Given the description of an element on the screen output the (x, y) to click on. 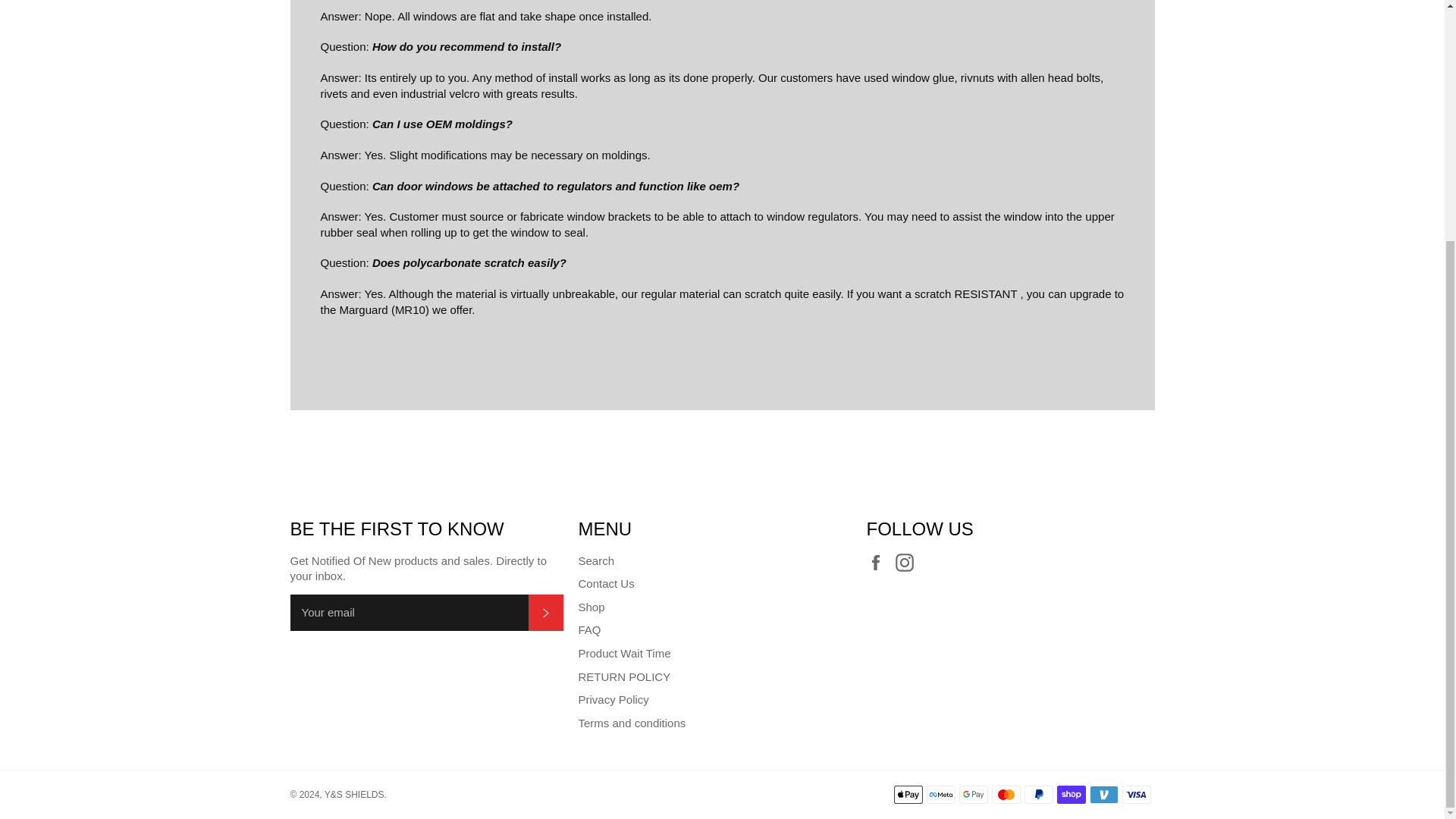
Terms and conditions (631, 722)
Shop (591, 606)
SUBSCRIBE (544, 612)
Contact Us (605, 583)
RETURN POLICY (623, 676)
Privacy Policy (612, 698)
Facebook (878, 561)
FAQ (588, 629)
Search (596, 560)
Instagram (908, 561)
